Given the description of an element on the screen output the (x, y) to click on. 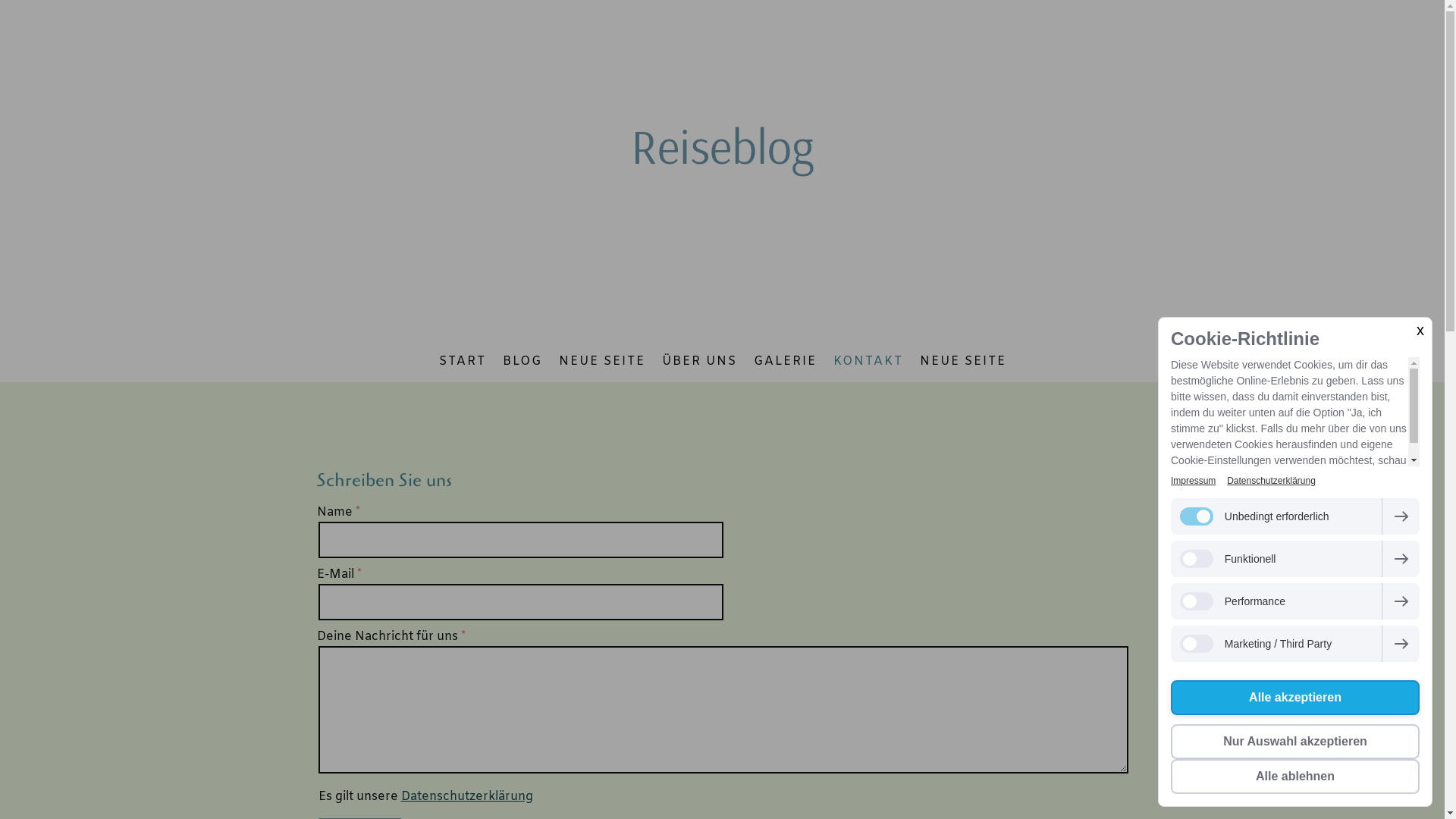
Nur Auswahl akzeptieren Element type: text (1294, 741)
NEUE SEITE Element type: text (962, 361)
NEUE SEITE Element type: text (601, 361)
GALERIE Element type: text (784, 361)
Alle akzeptieren Element type: text (1294, 697)
Impressum Element type: text (1192, 480)
KONTAKT Element type: text (868, 361)
START Element type: text (462, 361)
Reiseblog Element type: text (722, 145)
BLOG Element type: text (522, 361)
Alle ablehnen Element type: text (1294, 776)
